Given the description of an element on the screen output the (x, y) to click on. 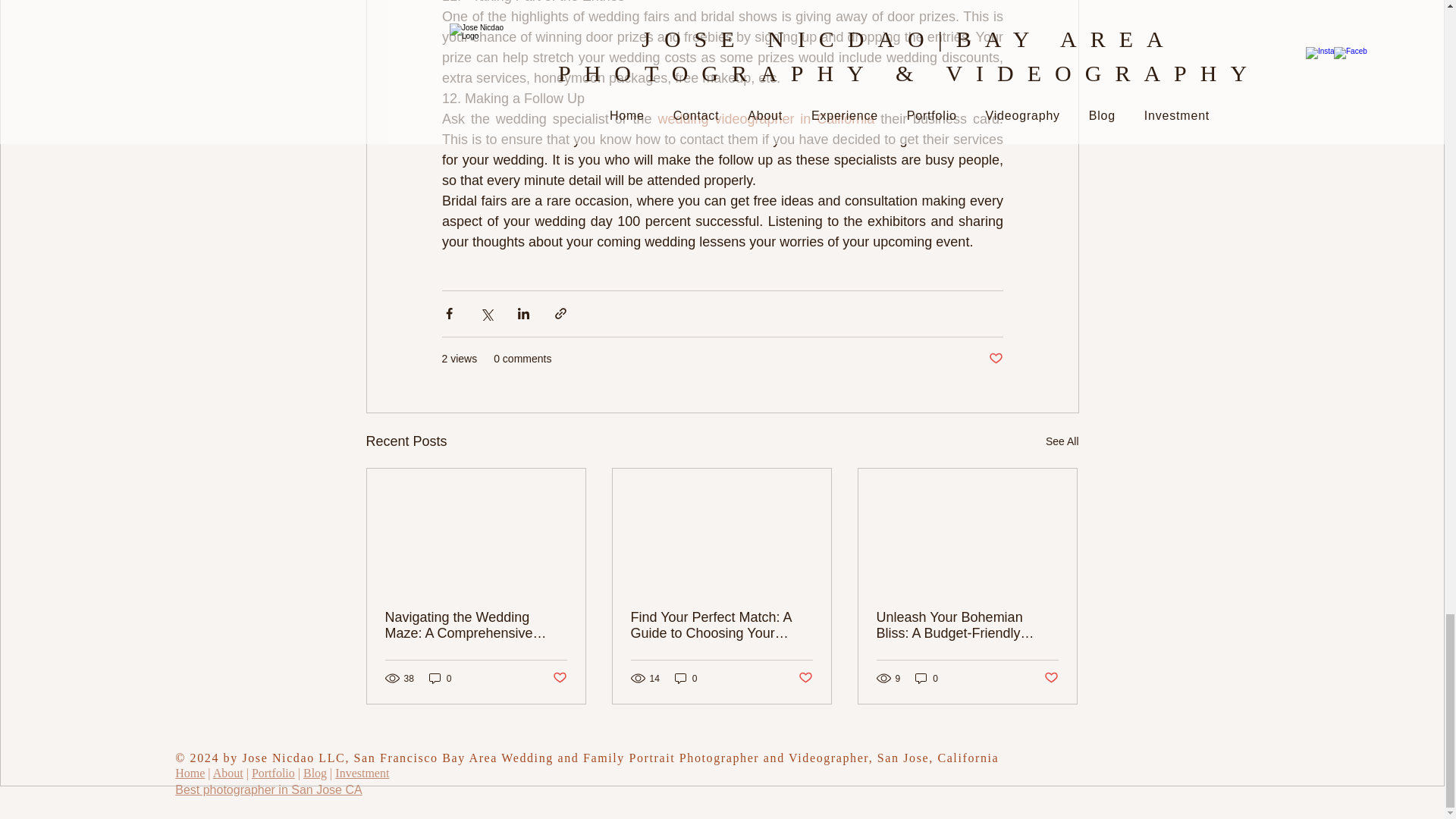
Post not marked as liked (804, 678)
Post not marked as liked (995, 358)
Blog (314, 772)
Post not marked as liked (1050, 678)
wedding videographer in California (766, 118)
See All (1061, 441)
0 (926, 677)
Investment (361, 772)
